Given the description of an element on the screen output the (x, y) to click on. 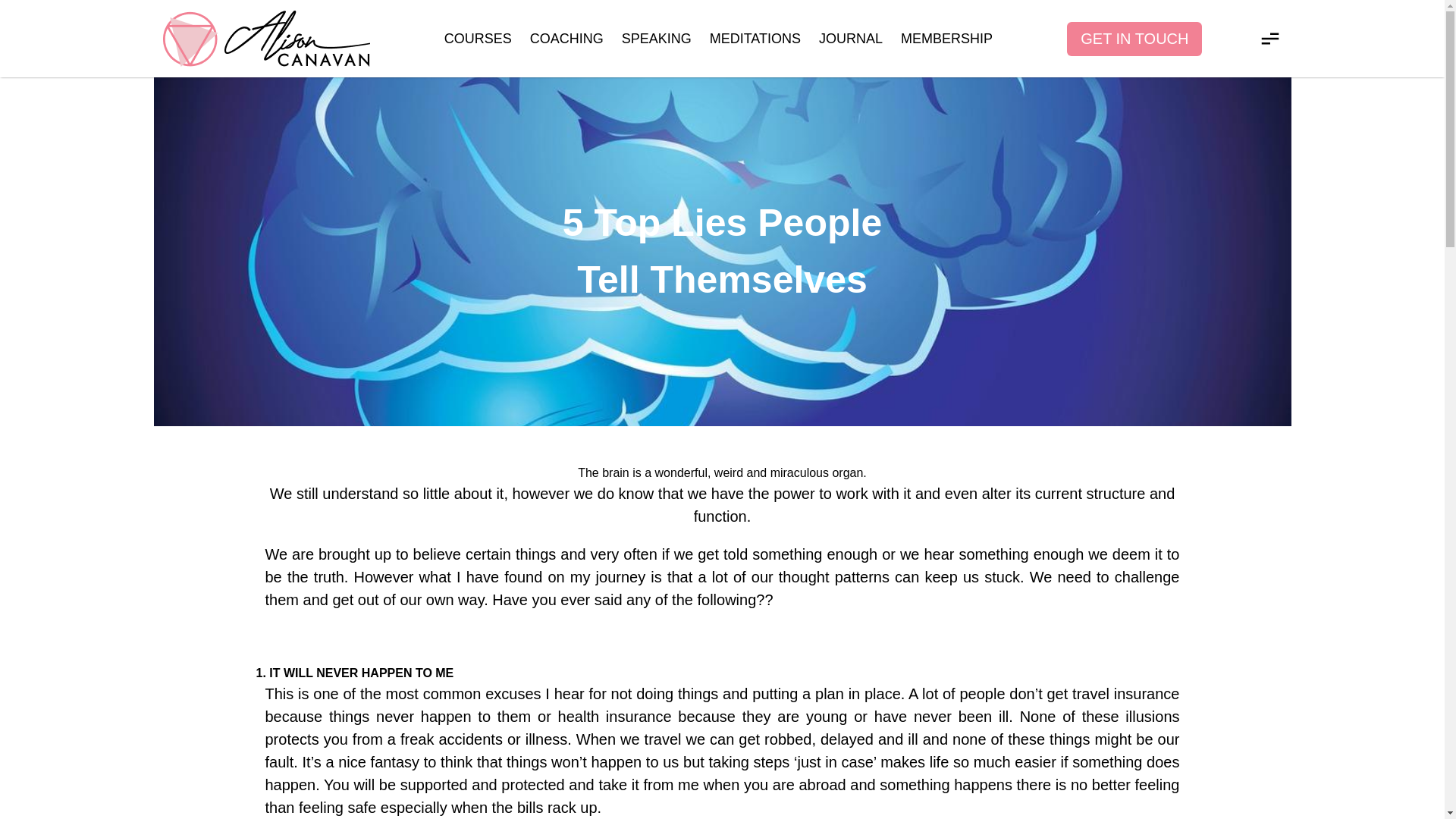
MEMBERSHIP (946, 37)
GET IN TOUCH (1134, 38)
COURSES (478, 37)
SPEAKING (656, 37)
MEDITATIONS (755, 37)
JOURNAL (850, 37)
COACHING (566, 37)
